Given the description of an element on the screen output the (x, y) to click on. 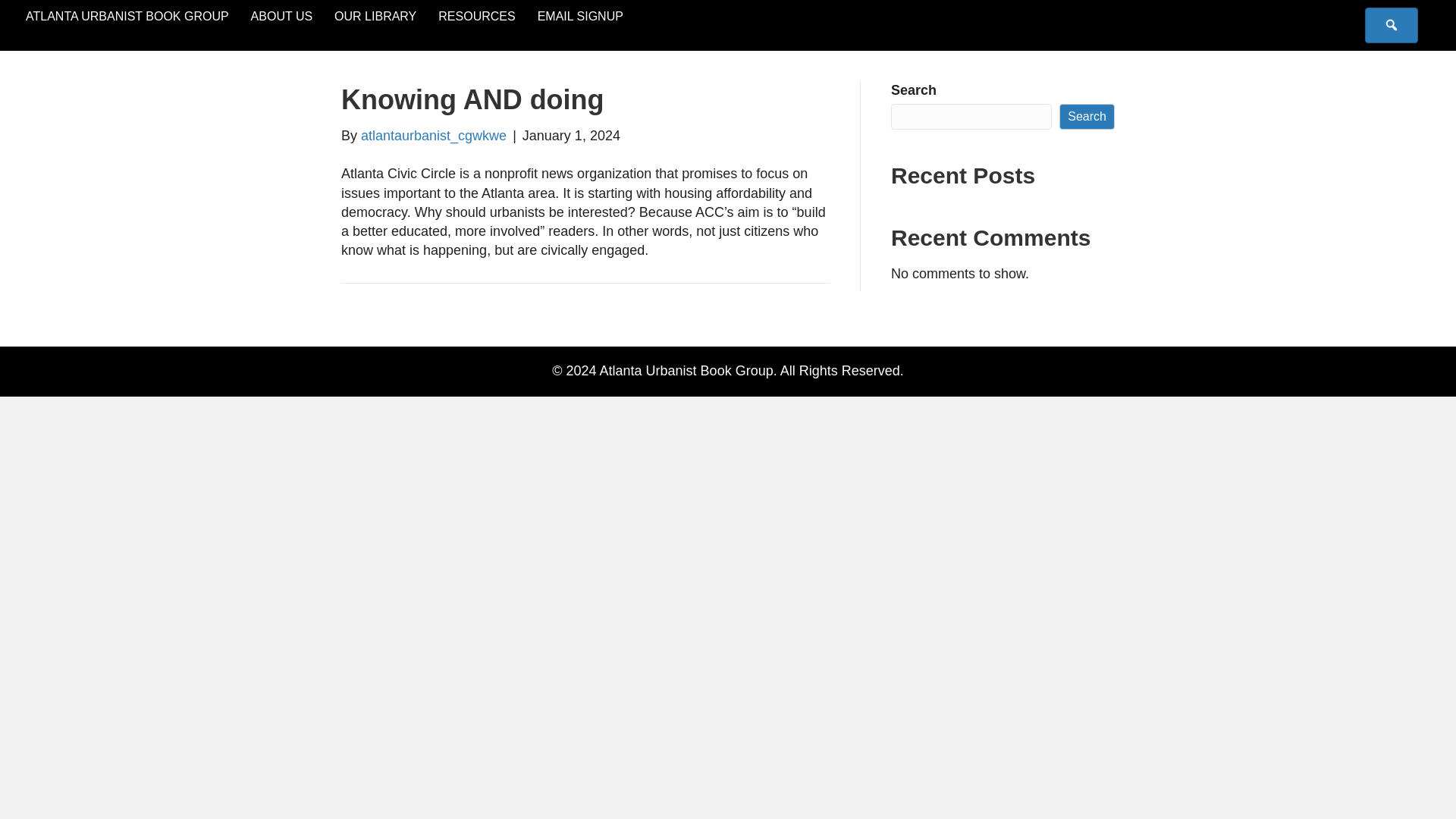
ABOUT US (281, 16)
ATLANTA URBANIST BOOK GROUP (127, 16)
Search (1087, 116)
RESOURCES (476, 16)
EMAIL SIGNUP (580, 16)
OUR LIBRARY (374, 16)
